Given the description of an element on the screen output the (x, y) to click on. 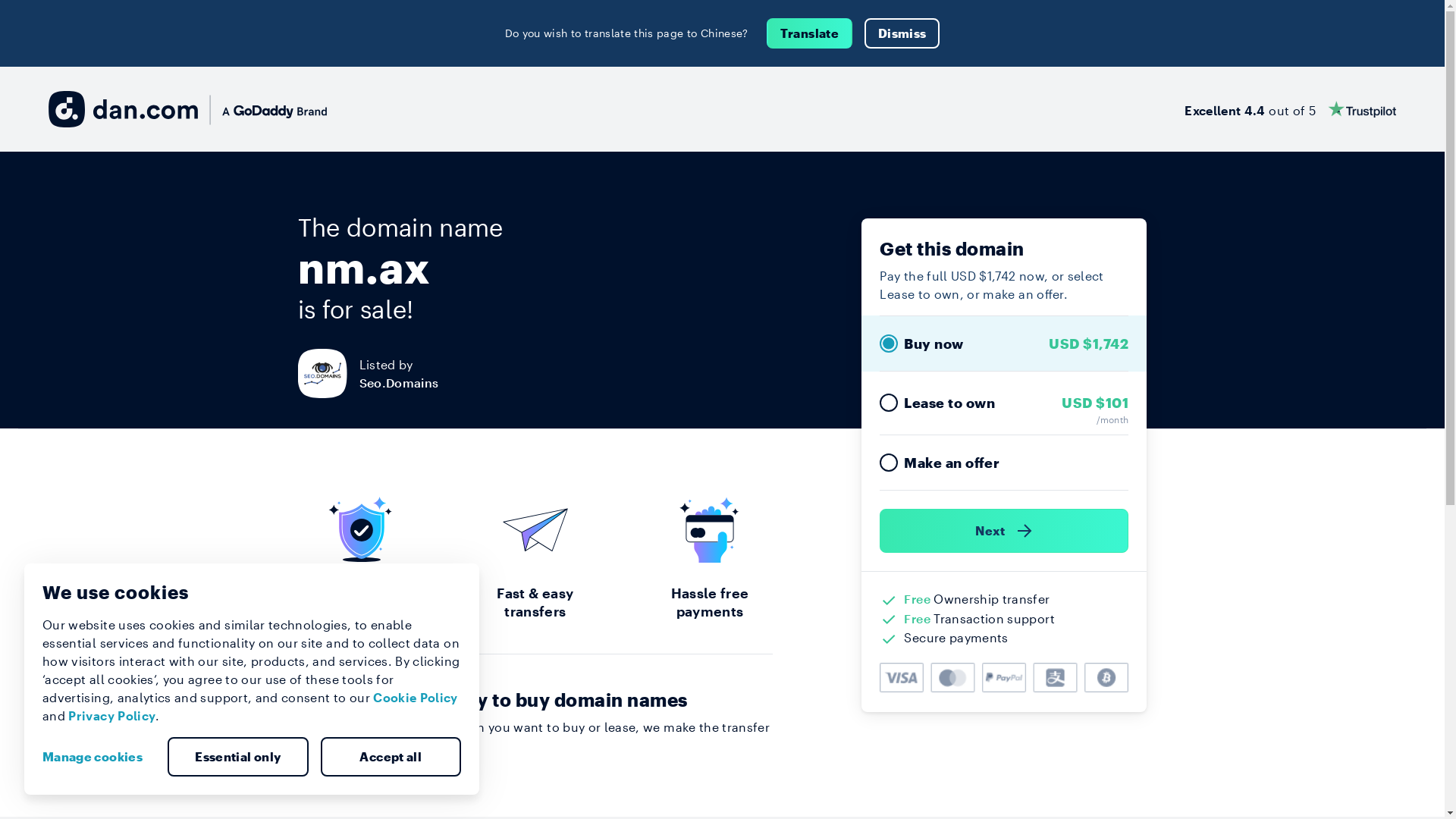
Excellent 4.4 out of 5 Element type: text (1290, 109)
Accept all Element type: text (390, 756)
Cookie Policy Element type: text (415, 697)
Manage cookies Element type: text (98, 756)
Dismiss Element type: text (901, 33)
Next
) Element type: text (1003, 530)
Privacy Policy Element type: text (111, 715)
Translate Element type: text (809, 33)
Essential only Element type: text (237, 756)
